Given the description of an element on the screen output the (x, y) to click on. 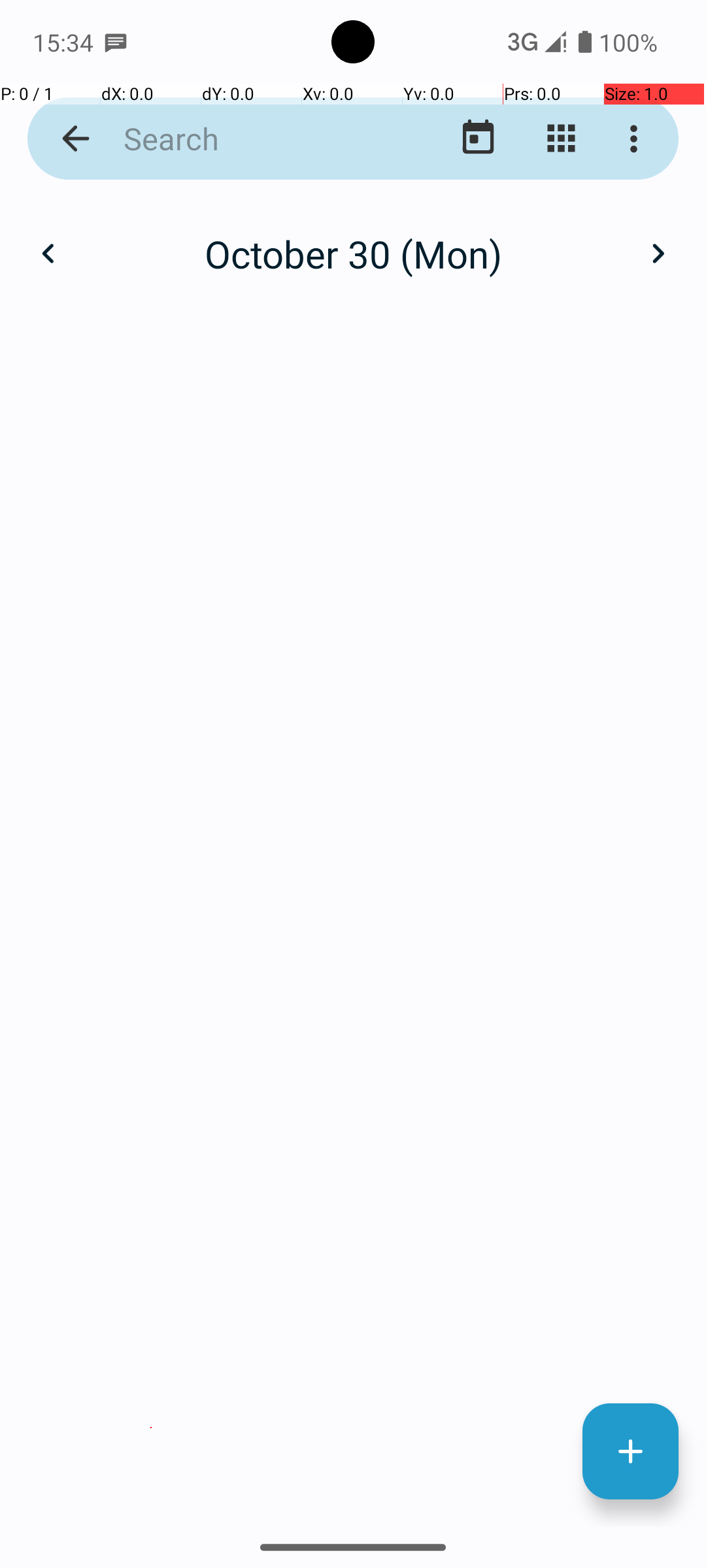
October 30 (Mon) Element type: android.widget.TextView (352, 253)
